Given the description of an element on the screen output the (x, y) to click on. 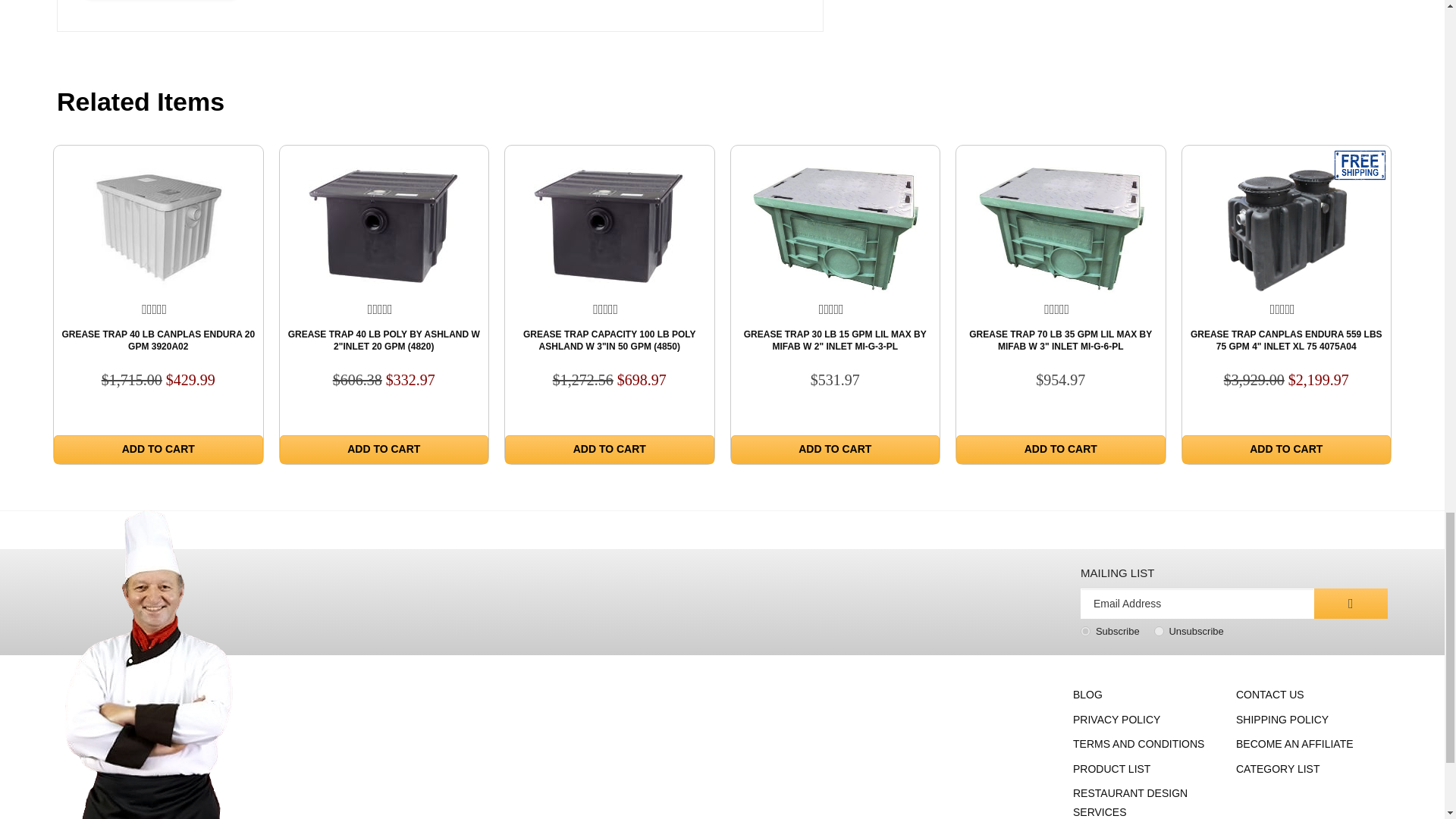
1 (1085, 631)
0 (1158, 631)
